Given the description of an element on the screen output the (x, y) to click on. 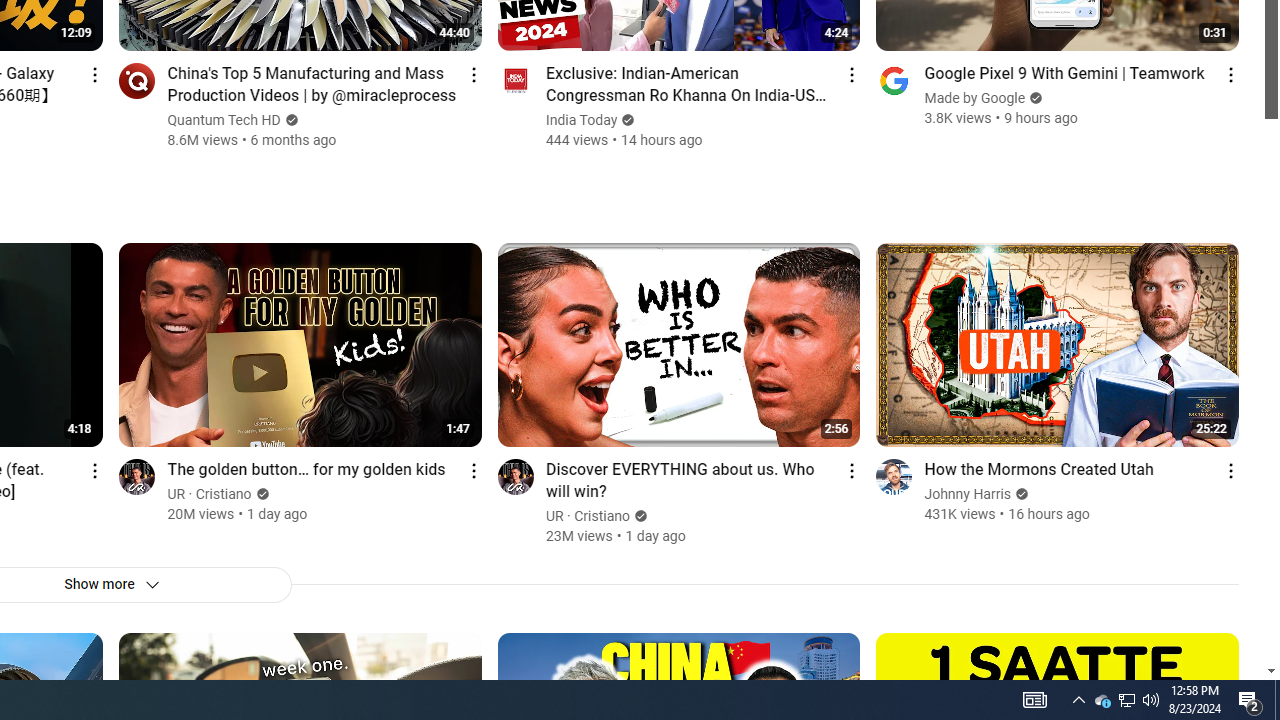
Quantum Tech HD (224, 120)
India Today (582, 120)
Made by Google (975, 97)
Go to channel (893, 476)
Johnny Harris (968, 493)
